Given the description of an element on the screen output the (x, y) to click on. 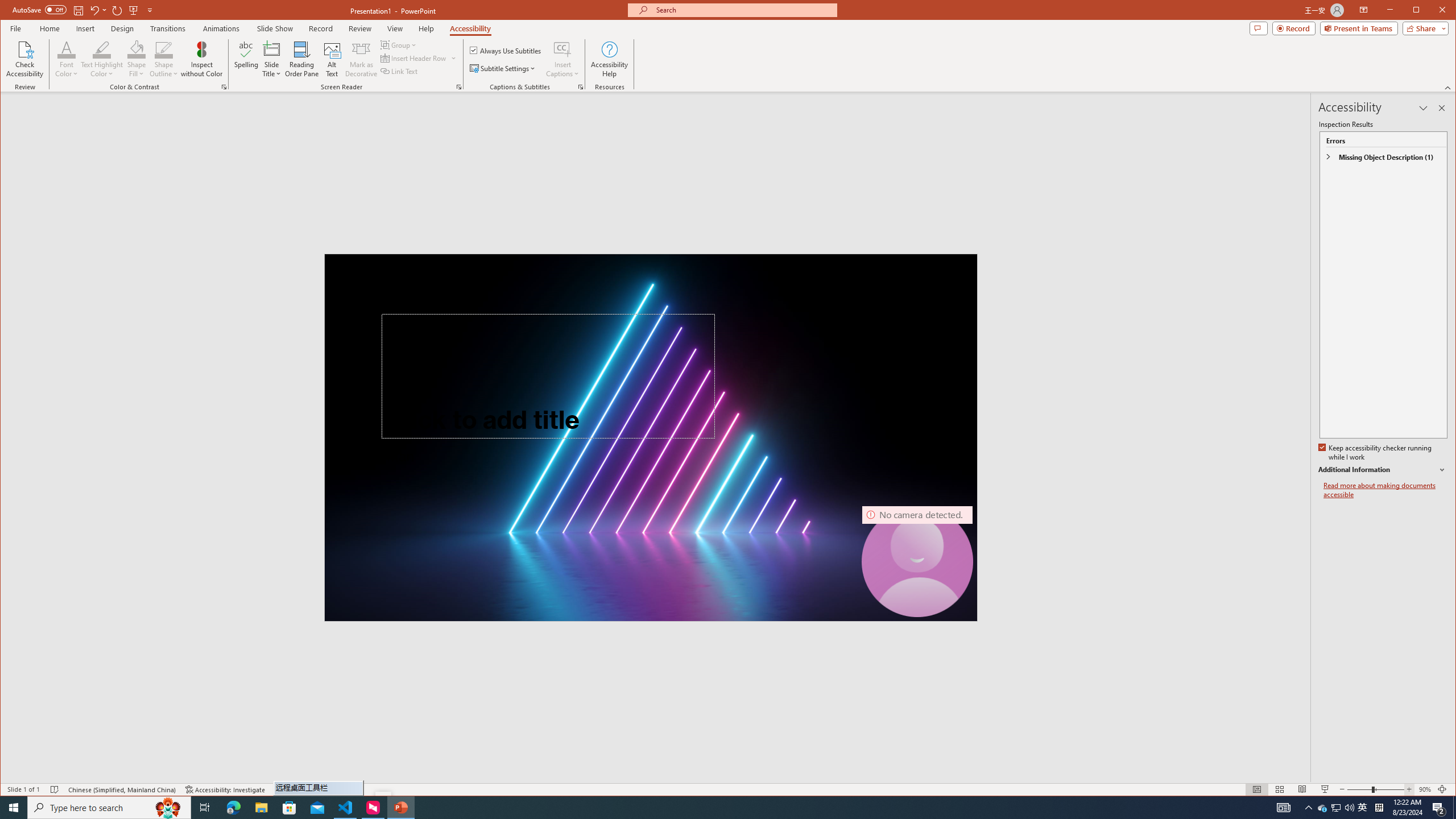
Captions & Subtitles (580, 86)
Inspect without Color (201, 59)
